Given the description of an element on the screen output the (x, y) to click on. 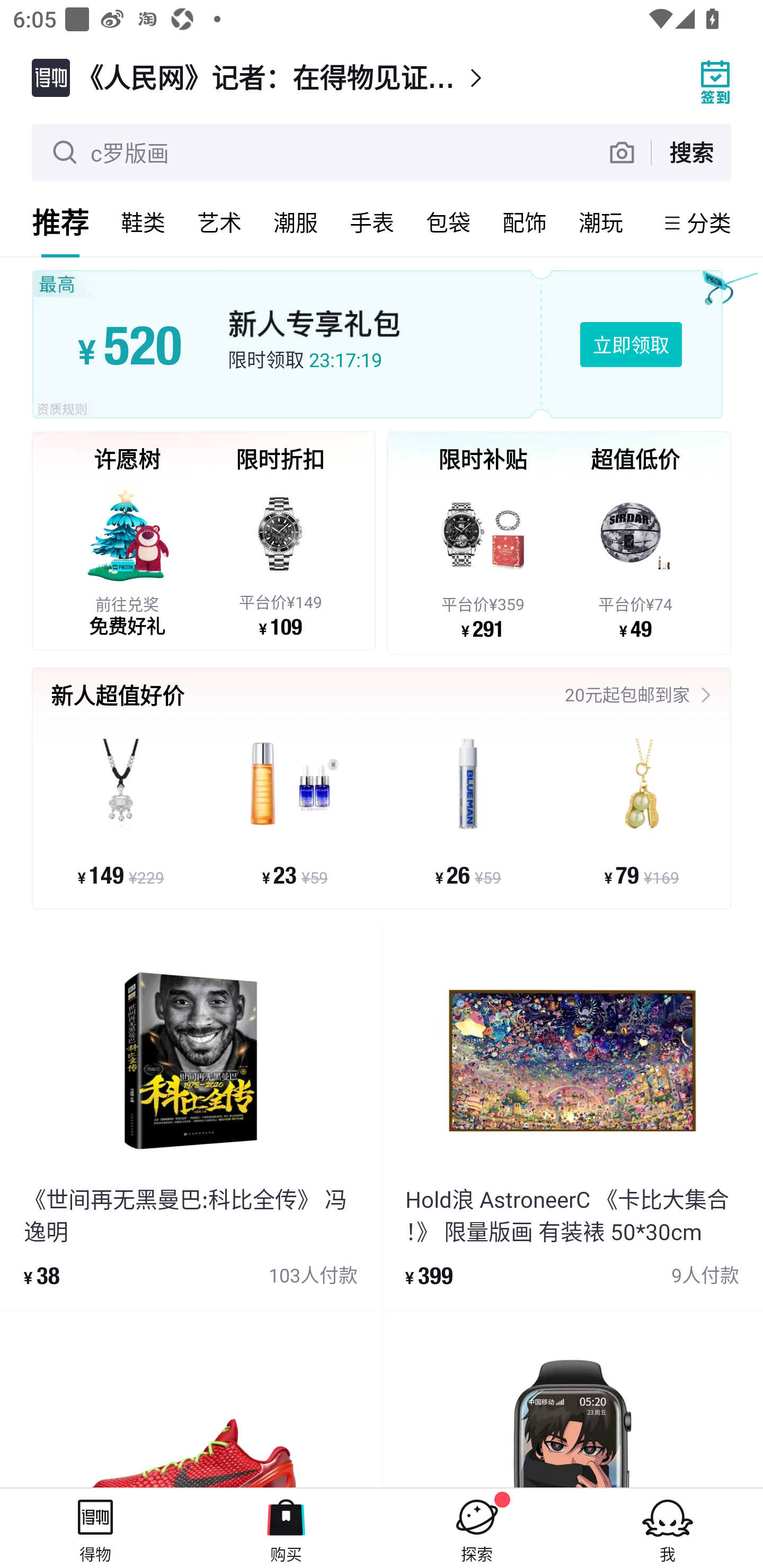
c罗版画 搜索 (381, 152)
搜索 (690, 152)
推荐 (60, 222)
鞋类 (143, 222)
艺术 (219, 222)
潮服 (295, 222)
手表 (372, 222)
包袋 (448, 222)
配饰 (524, 222)
潮玩 (601, 222)
分类 (708, 222)
立即领取 (630, 343)
平台价¥149 ¥ 109 (279, 557)
前往兑奖 免费好礼 (127, 558)
平台价¥359 ¥ 291 (482, 559)
平台价¥74 ¥ 49 (635, 559)
¥ 149 ¥229 (121, 811)
¥ 23 ¥59 (294, 811)
¥ 26 ¥59 (468, 811)
¥ 79 ¥169 (641, 811)
product_item 《世间再无黑曼巴:科比全传》 冯
逸明 ¥ 38 103人付款 (190, 1115)
product_item (572, 1400)
得物 (95, 1528)
购买 (285, 1528)
探索 (476, 1528)
我 (667, 1528)
